Given the description of an element on the screen output the (x, y) to click on. 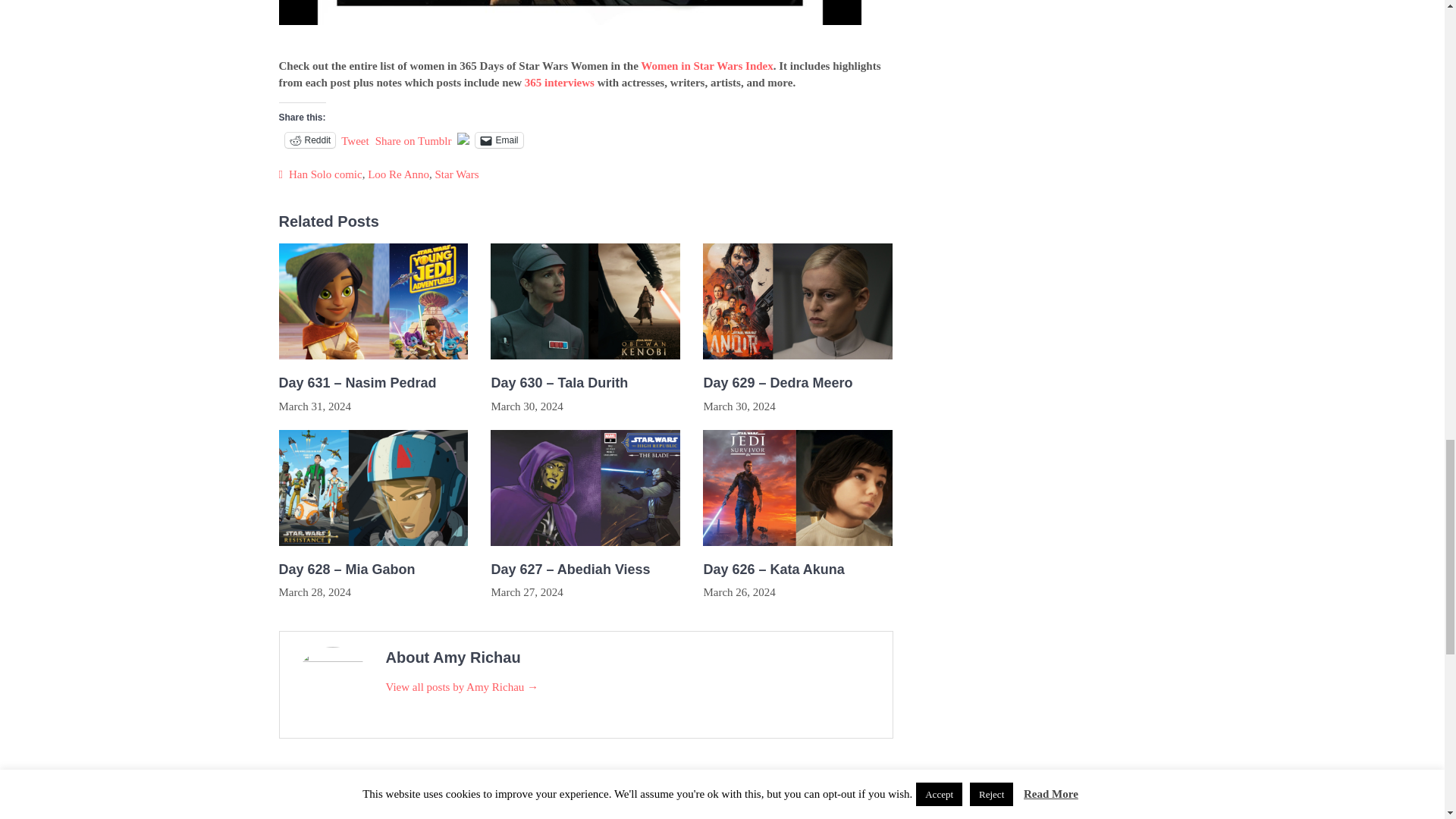
Email (499, 140)
Loo Re Anno (398, 174)
Click to email a link to a friend (499, 140)
Share on Tumblr (413, 139)
Share on Tumblr (413, 139)
Women in Star Wars Index (706, 65)
Star Wars (456, 174)
Han Solo comic (325, 174)
Tweet (354, 139)
365 interviews (559, 82)
Reddit (310, 140)
Click to share on Reddit (310, 140)
